Given the description of an element on the screen output the (x, y) to click on. 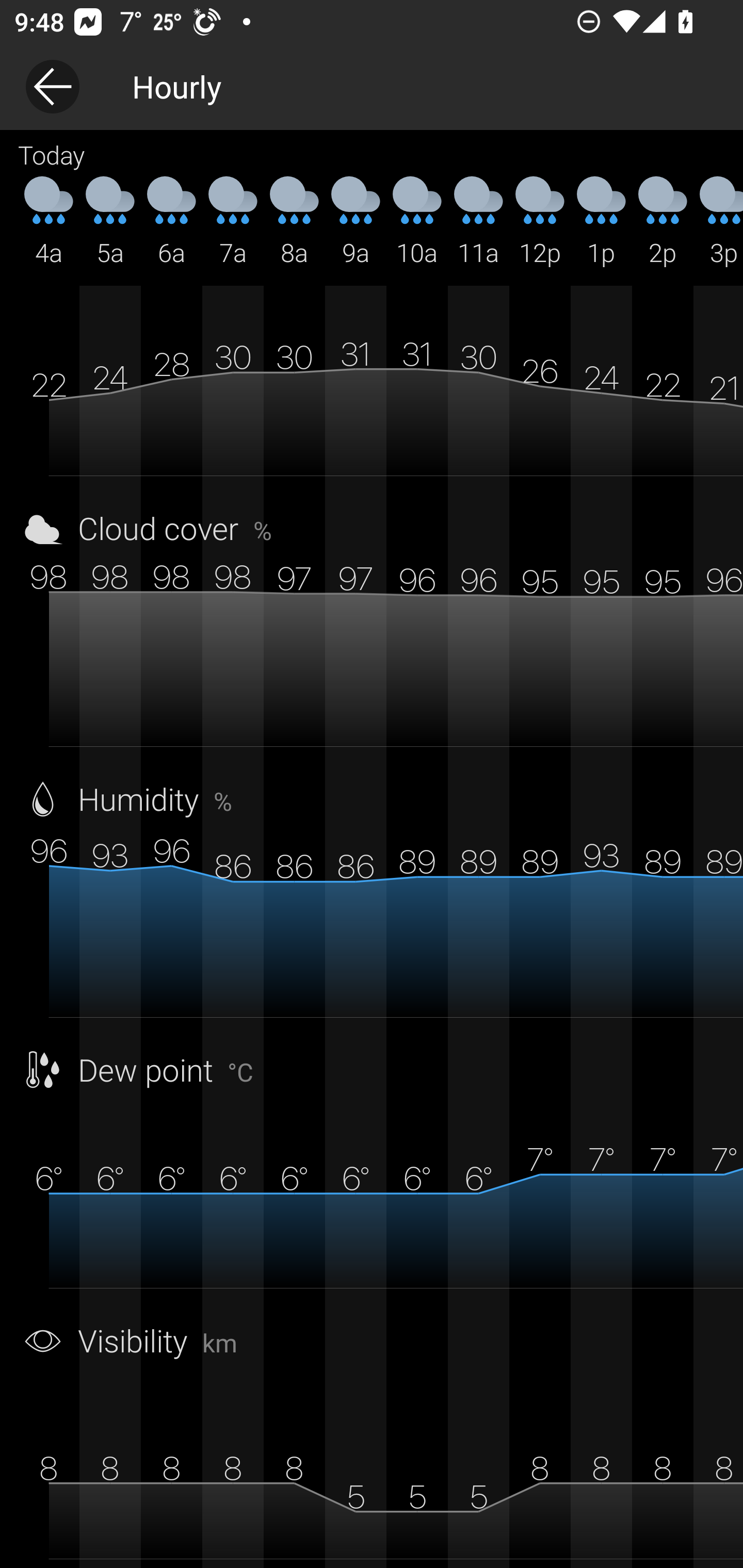
4a (48, 222)
5a (110, 222)
6a (171, 222)
7a (232, 222)
8a (294, 222)
9a (355, 222)
10a (417, 222)
11a (478, 222)
12p (539, 222)
1p (601, 222)
2p (662, 222)
3p (718, 222)
